Given the description of an element on the screen output the (x, y) to click on. 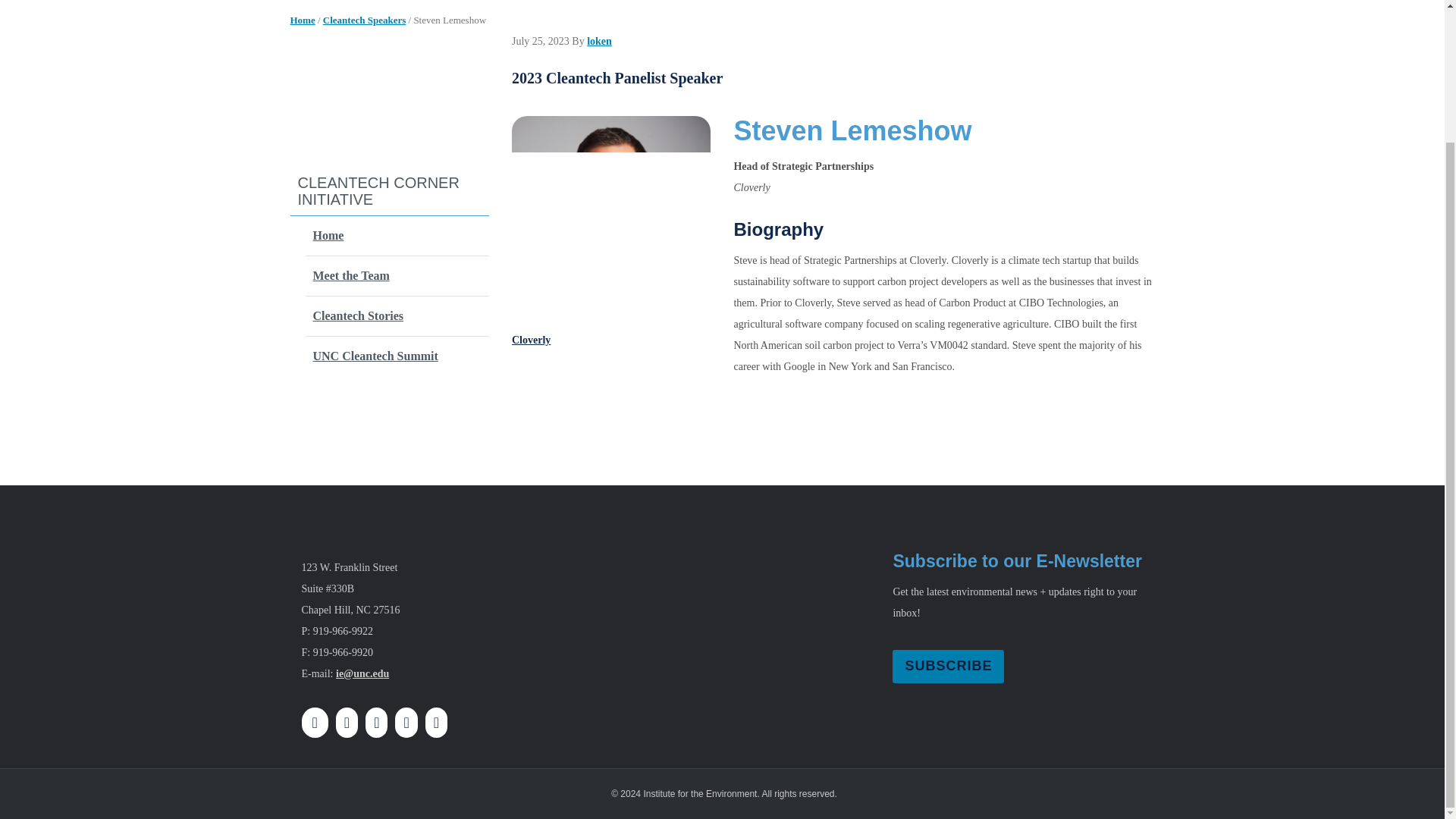
Institute for the Environment Twitter Account (376, 723)
Institute for the Environment Youtube (405, 723)
Institute for the Environment LinkedIn (436, 723)
Institute for the Environment Instagram Account (346, 723)
Home (301, 19)
Cleantech Speakers (364, 19)
Institute for the Environment Facebook Page (316, 723)
